Given the description of an element on the screen output the (x, y) to click on. 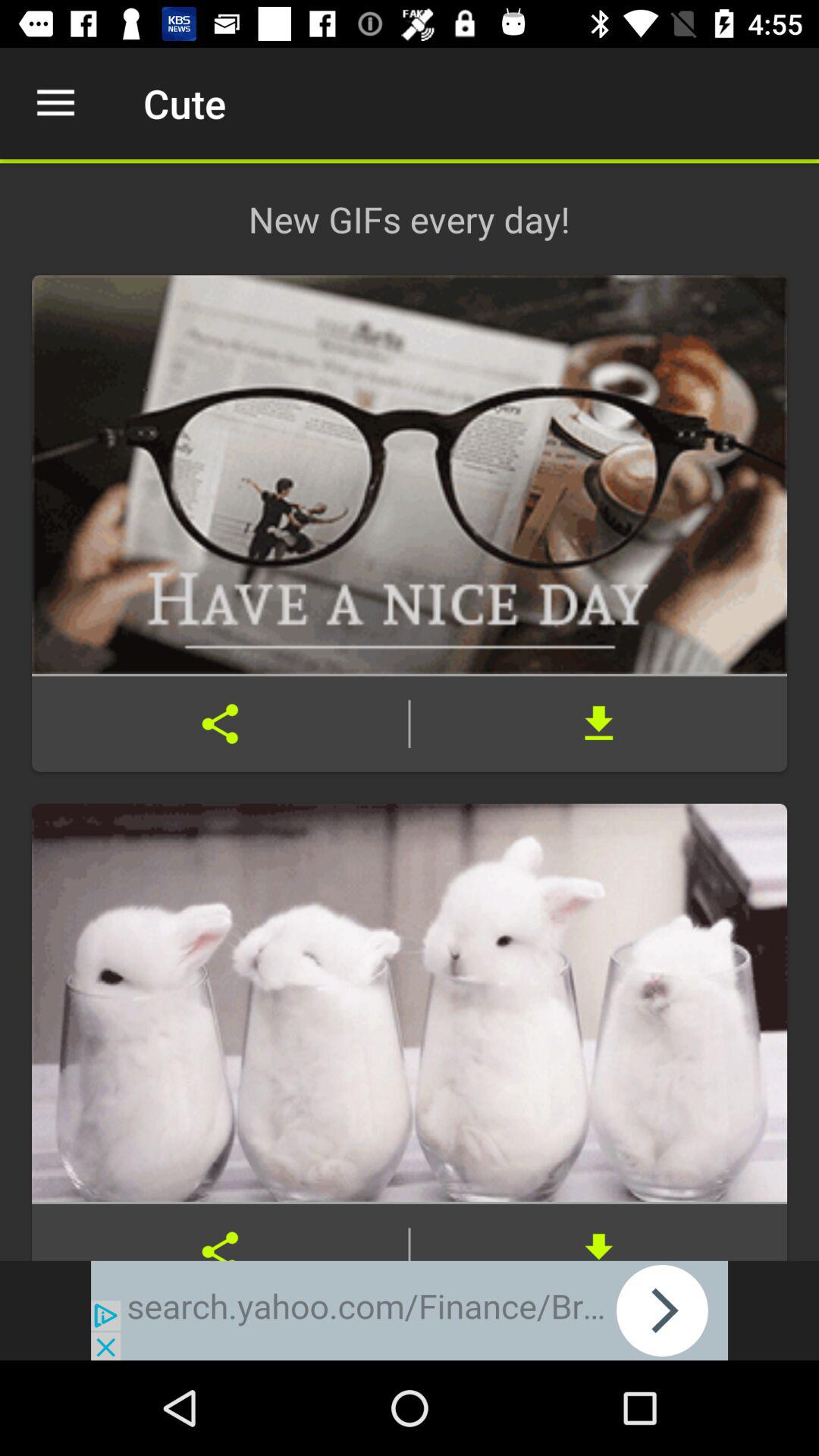
go down (598, 1232)
